Given the description of an element on the screen output the (x, y) to click on. 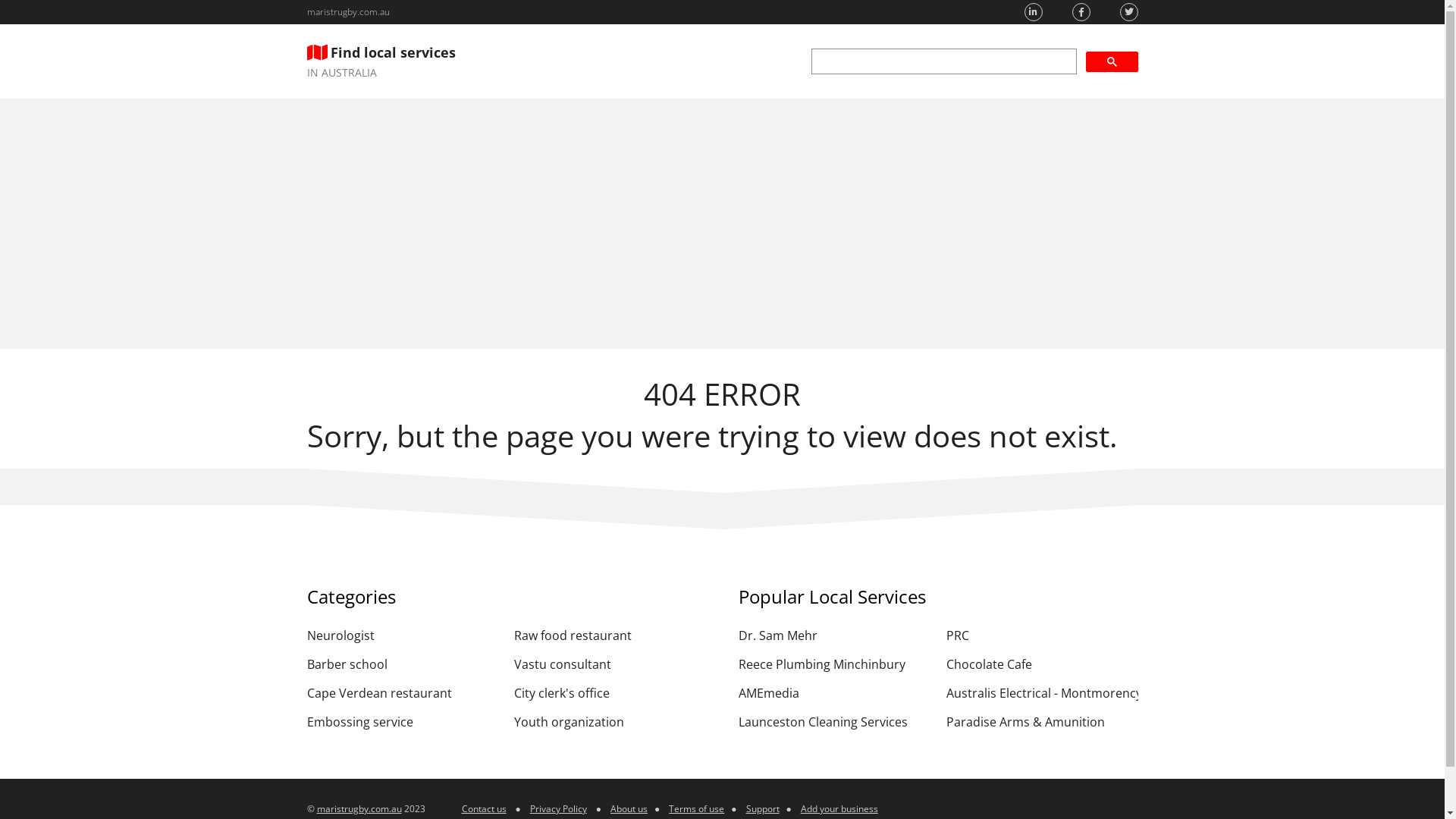
Reece Plumbing Minchinbury Element type: text (834, 663)
Youth organization Element type: text (610, 721)
Launceston Cleaning Services Element type: text (834, 721)
Vastu consultant Element type: text (610, 663)
Embossing service Element type: text (402, 721)
About us Element type: text (628, 808)
Support Element type: text (762, 808)
Privacy Policy Element type: text (558, 808)
Dr. Sam Mehr Element type: text (834, 635)
Neurologist Element type: text (402, 635)
Australis Electrical - Montmorency Element type: text (1042, 692)
Contact us Element type: text (483, 808)
maristrugby.com.au Element type: text (347, 12)
Raw food restaurant Element type: text (610, 635)
Paradise Arms & Amunition Element type: text (1042, 721)
Terms of use Element type: text (696, 808)
Chocolate Cafe Element type: text (1042, 663)
Barber school Element type: text (402, 663)
PRC Element type: text (1042, 635)
maristrugby.com.au Element type: text (358, 808)
Cape Verdean restaurant Element type: text (402, 692)
City clerk's office Element type: text (610, 692)
search Element type: hover (943, 61)
Add your business Element type: text (839, 808)
AMEmedia Element type: text (834, 692)
Find local services
IN AUSTRALIA Element type: text (380, 61)
Advertisement Element type: hover (721, 223)
